Given the description of an element on the screen output the (x, y) to click on. 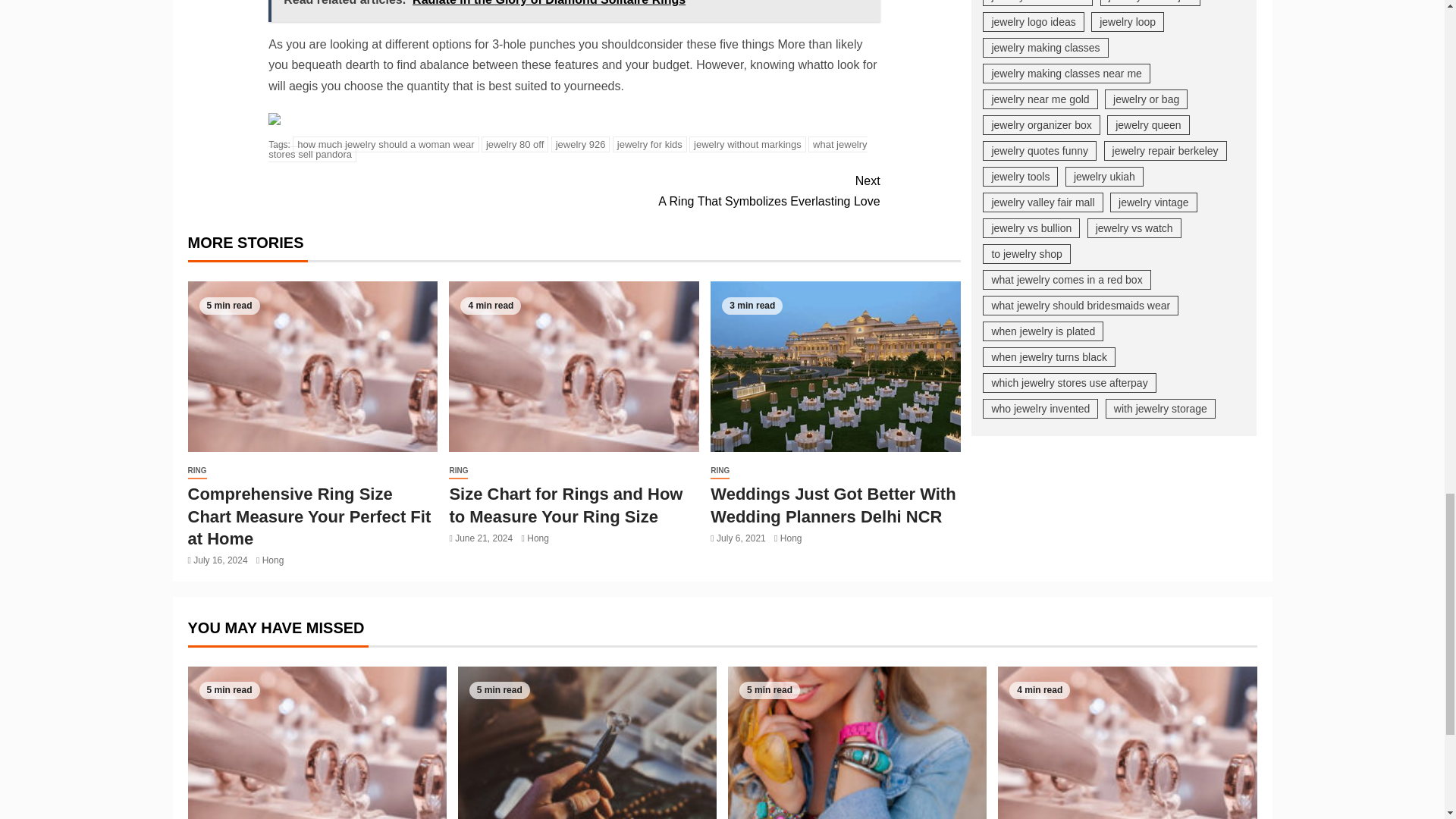
jewelry 926 (726, 190)
what jewelry stores sell pandora (580, 144)
How is Jewelry Made? (566, 149)
jewelry without markings (587, 742)
Size Chart for Rings and How to Measure Your Ring Size (747, 144)
jewelry for kids (1126, 742)
jewelry 80 off (649, 144)
Weddings Just Got Better With Wedding Planners Delhi NCR (514, 144)
how much jewelry should a woman wear (835, 366)
